Given the description of an element on the screen output the (x, y) to click on. 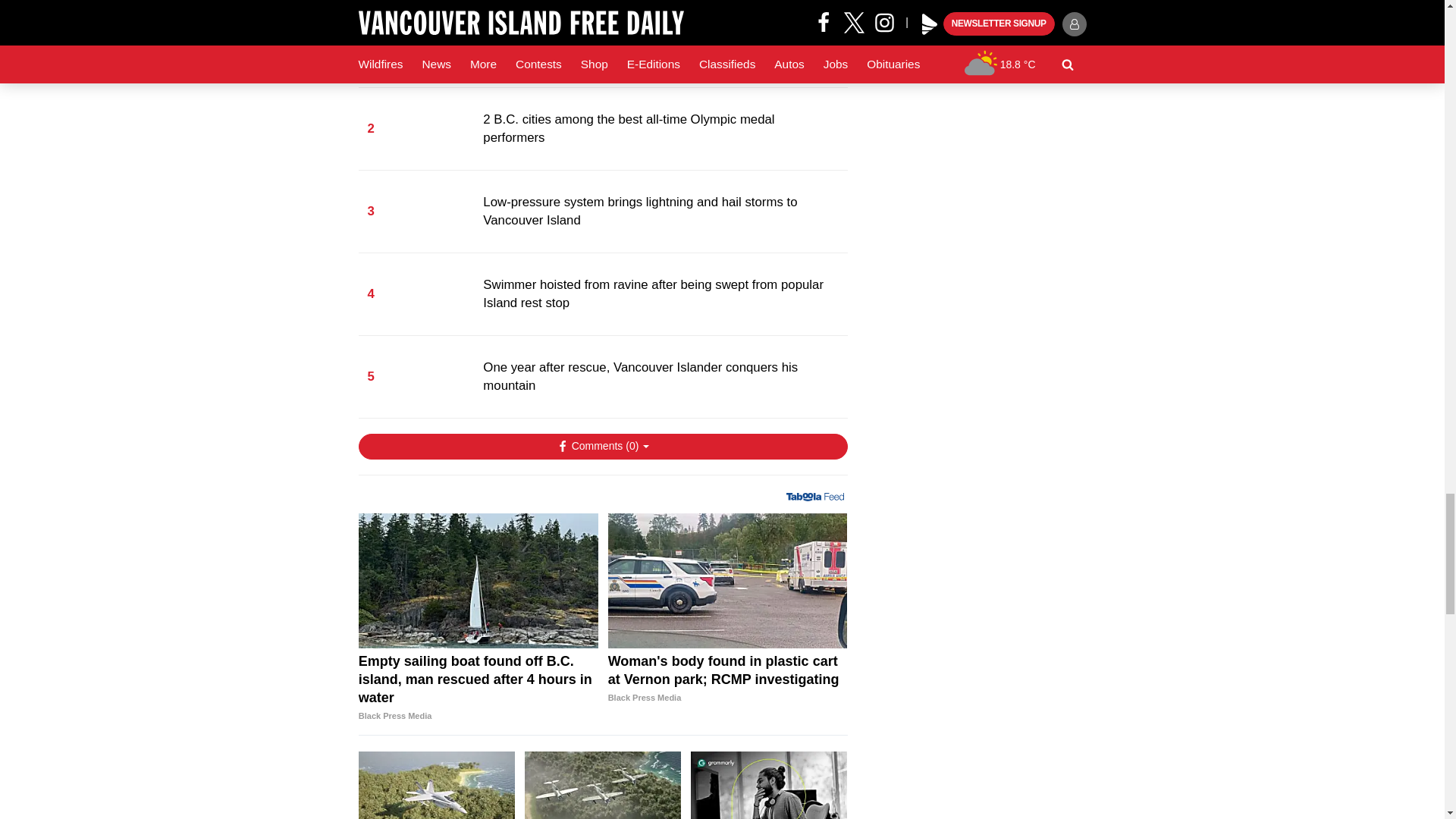
Show Comments (602, 446)
